Given the description of an element on the screen output the (x, y) to click on. 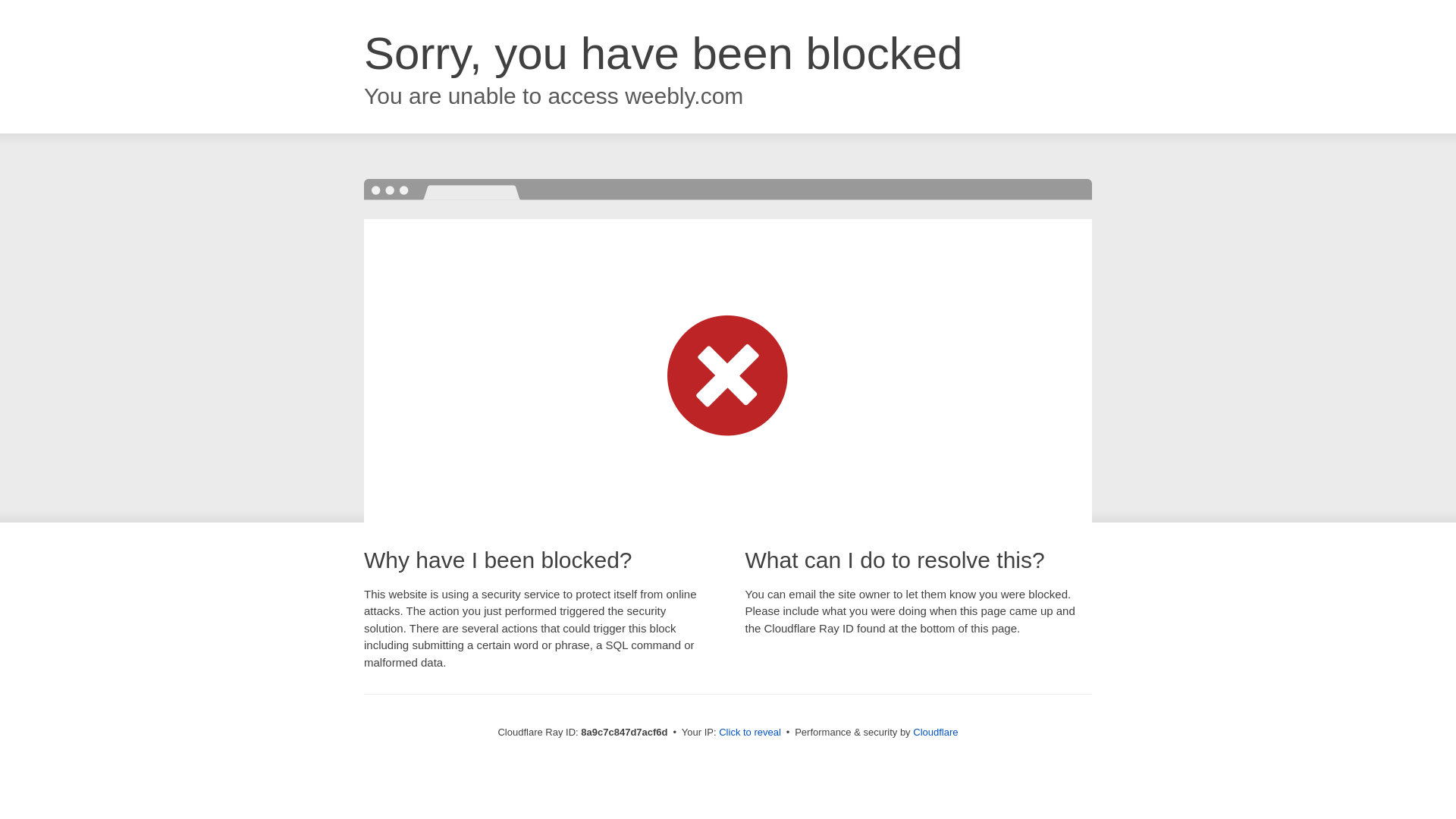
Click to reveal (749, 732)
Cloudflare (935, 731)
